Given the description of an element on the screen output the (x, y) to click on. 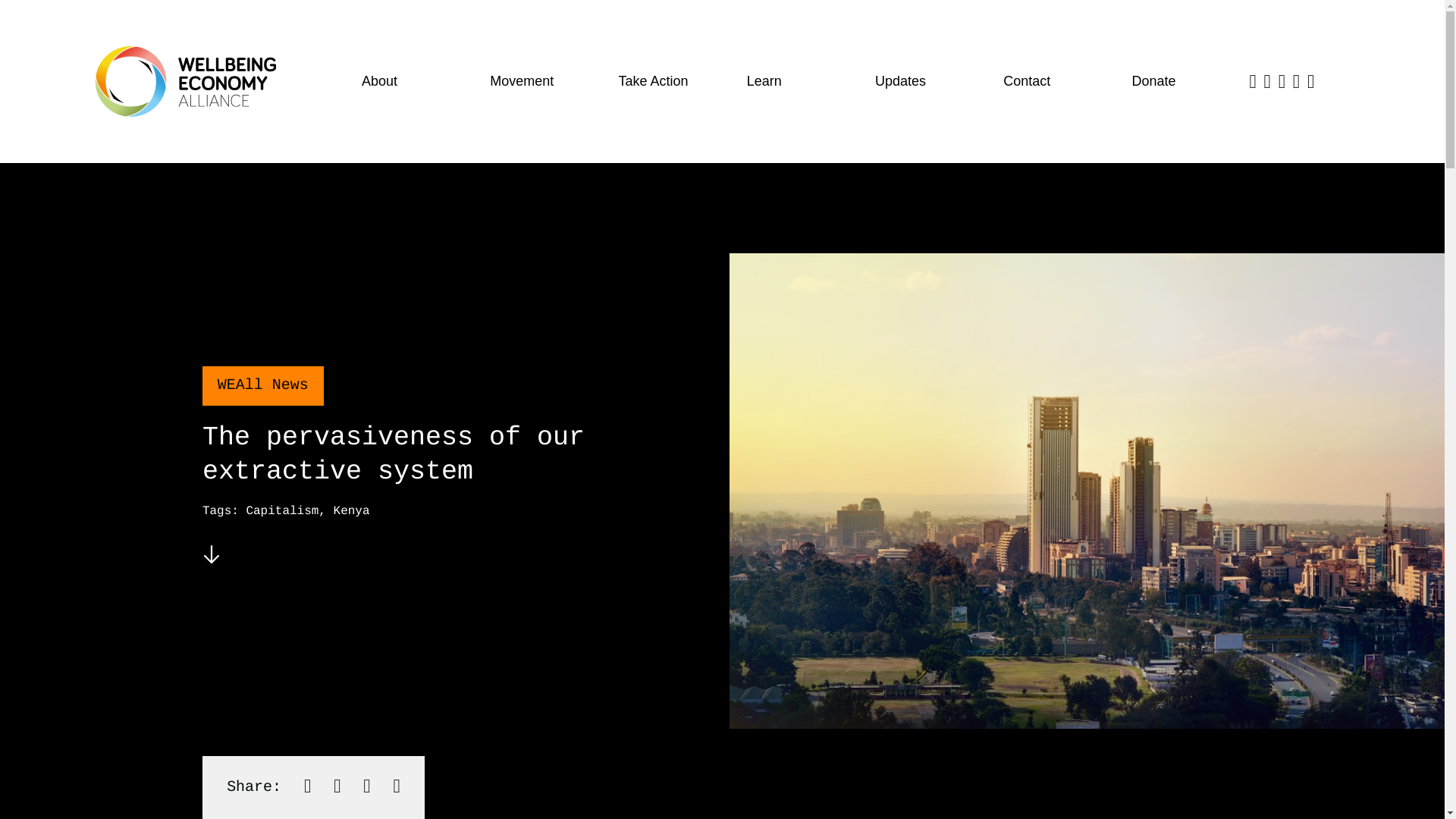
Take Action (664, 81)
Donate (1178, 81)
Updates (921, 81)
Contact (1050, 81)
Learn (792, 81)
About (407, 81)
Movement (536, 81)
